Given the description of an element on the screen output the (x, y) to click on. 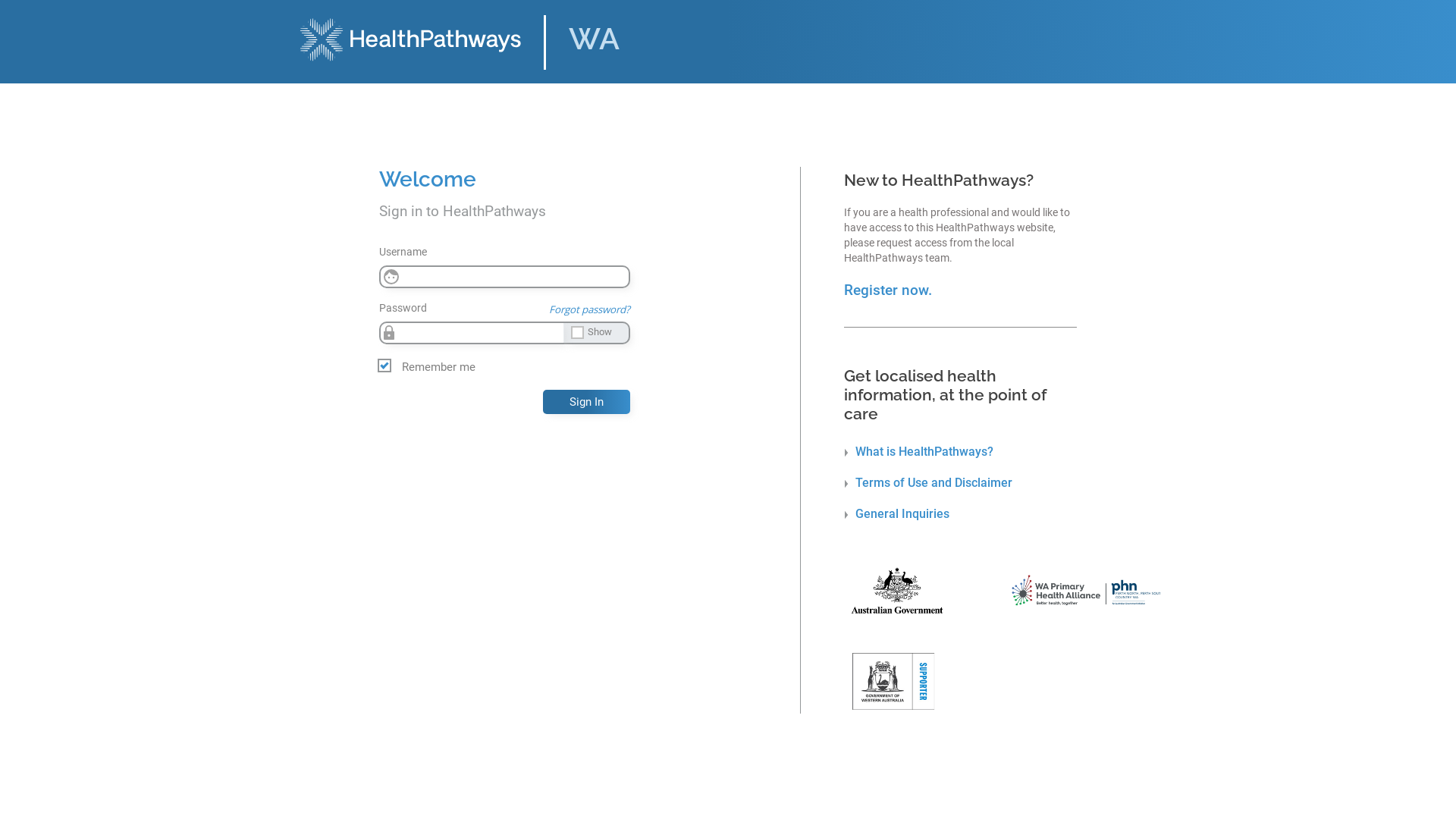
on Element type: text (4, 11)
General Inquiries Element type: text (896, 513)
What is HealthPathways? Element type: text (918, 451)
Register now. Element type: text (887, 290)
Terms of Use and Disclaimer Element type: text (928, 482)
Sign In Element type: text (586, 401)
